Given the description of an element on the screen output the (x, y) to click on. 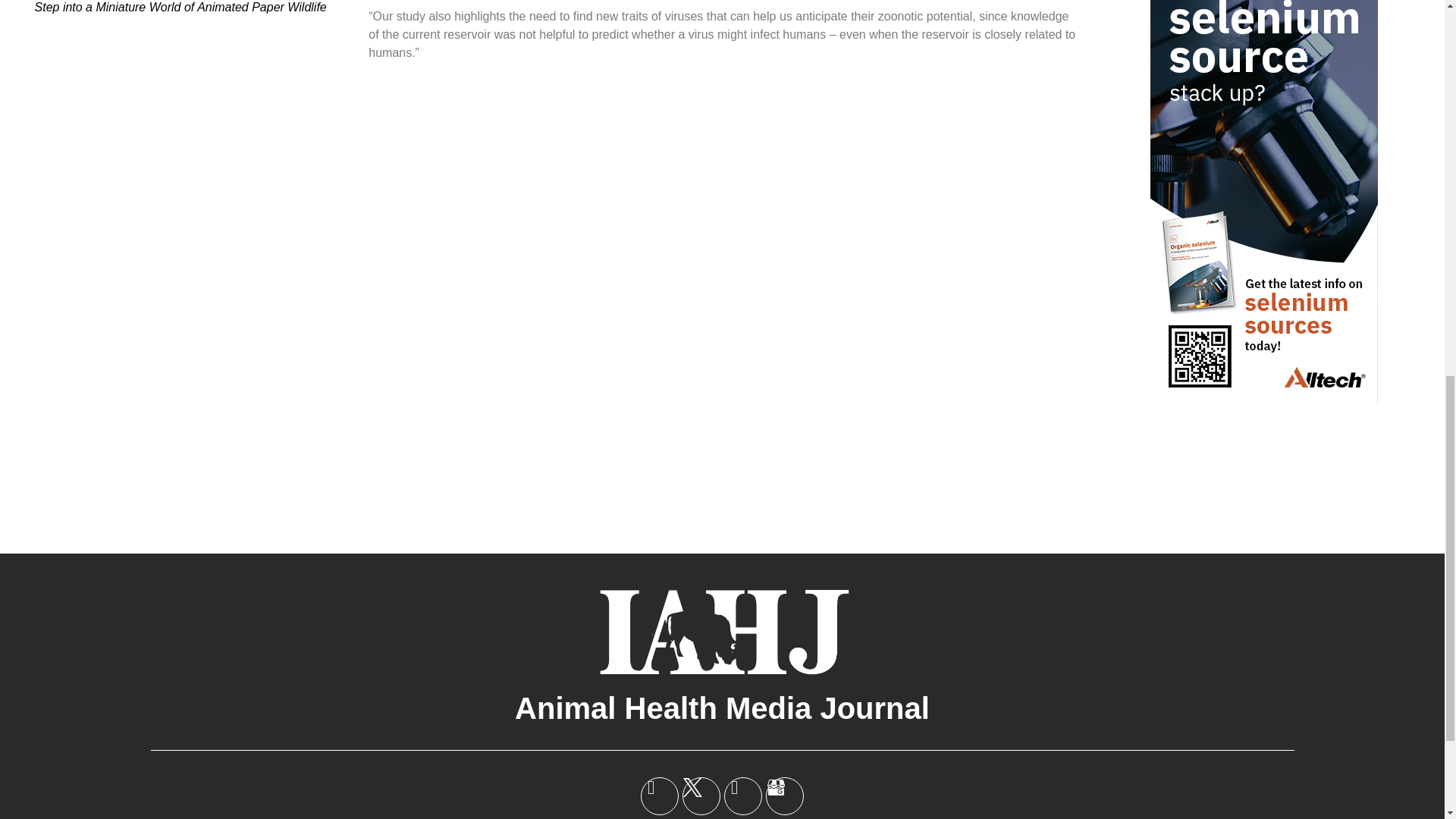
Animal-Health-Media-Journal.png (722, 630)
